Given the description of an element on the screen output the (x, y) to click on. 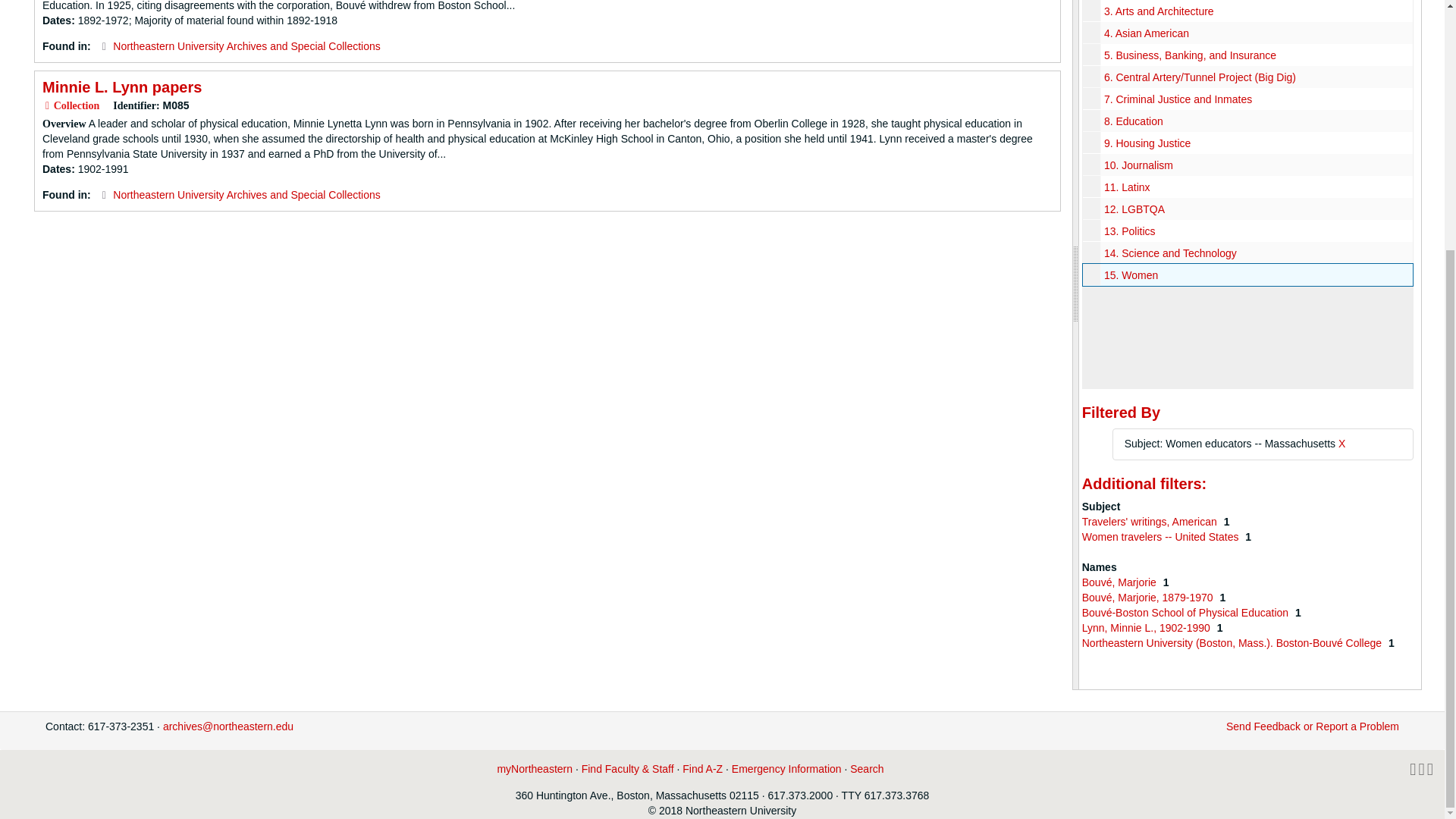
11. Latinx (1126, 186)
9. Housing Justice (1147, 143)
Housing Justice (1247, 142)
7. Criminal Justice and Inmates (1177, 99)
Minnie L. Lynn papers (122, 86)
12. LGBTQA (1133, 209)
Journalism (1247, 164)
Criminal Justice and Inmates (1247, 98)
LGBTQA (1247, 209)
4. Asian American (1146, 33)
Northeastern University Archives and Special Collections (246, 46)
Northeastern University Archives and Special Collections (246, 194)
3. Arts and Architecture (1158, 10)
Latinx (1247, 187)
Business, Banking, and Insurance (1247, 55)
